Given the description of an element on the screen output the (x, y) to click on. 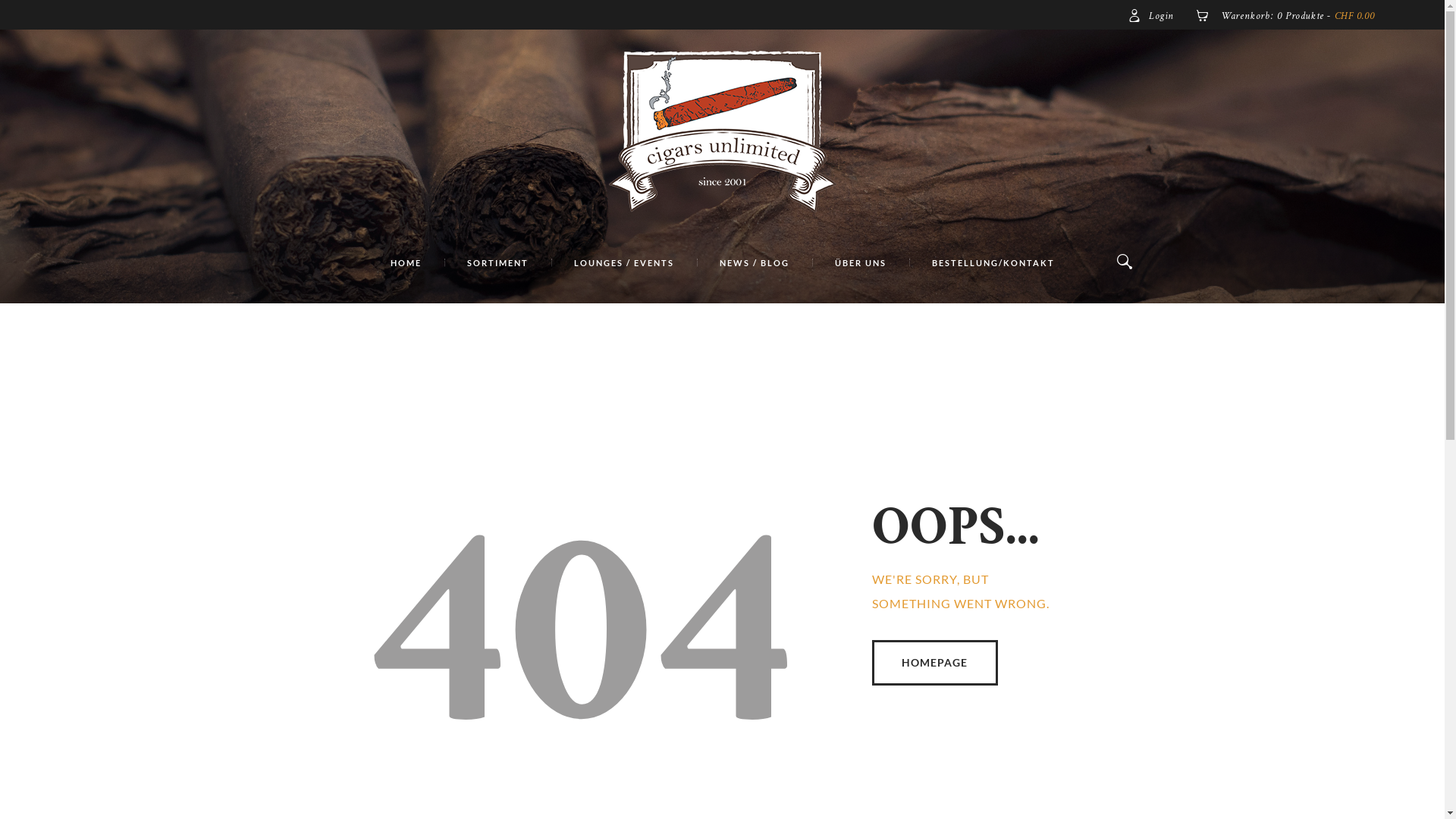
HOMEPAGE Element type: text (935, 662)
LOUNGES / EVENTS Element type: text (623, 263)
Warenkorb: 0 Produkte - CHF 0.00 Element type: text (1285, 15)
HOME Element type: text (405, 263)
NEWS / BLOG Element type: text (753, 263)
BESTELLUNG/KONTAKT Element type: text (992, 263)
SORTIMENT Element type: text (497, 263)
Login Element type: text (1150, 15)
